Given the description of an element on the screen output the (x, y) to click on. 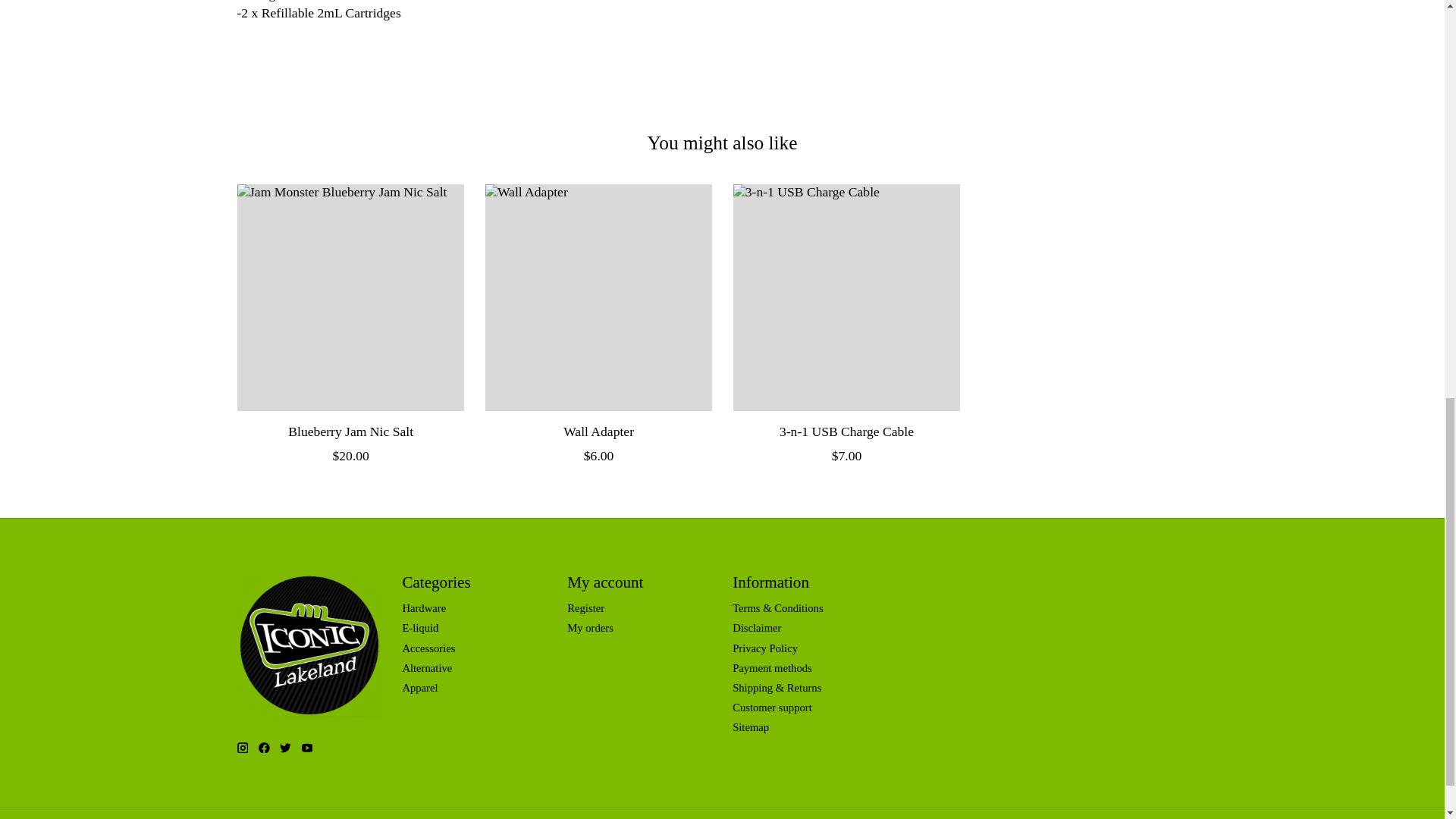
Payment methods (772, 667)
Customer support (772, 707)
Wall Adapter (597, 297)
Disclaimer (756, 627)
Jam Monster Blueberry Jam Nic Salt (349, 297)
Privacy Policy (764, 648)
Register (585, 607)
My orders (589, 627)
3-n-1 USB Charge Cable (845, 297)
